Given the description of an element on the screen output the (x, y) to click on. 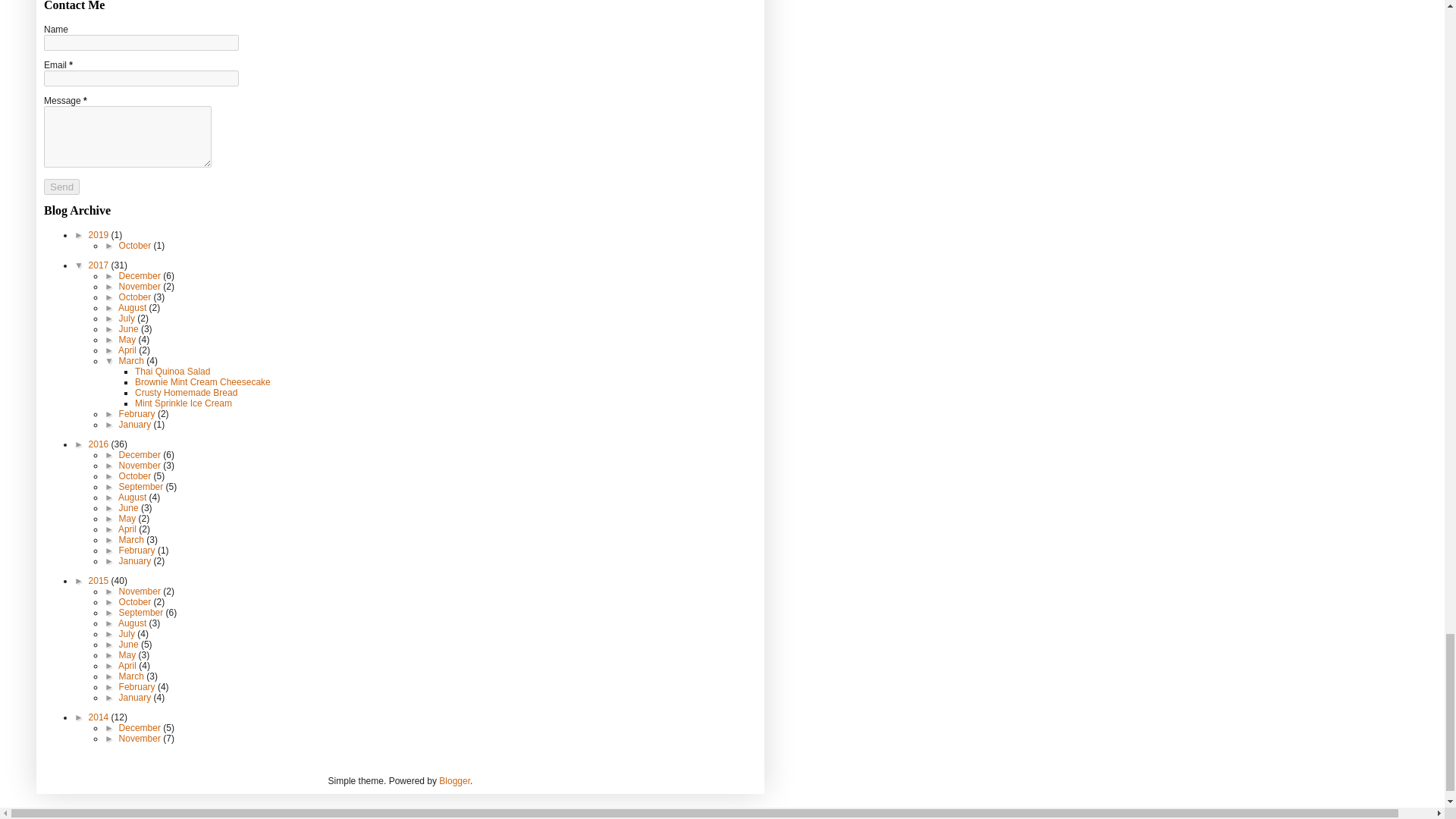
Send (61, 186)
